Given the description of an element on the screen output the (x, y) to click on. 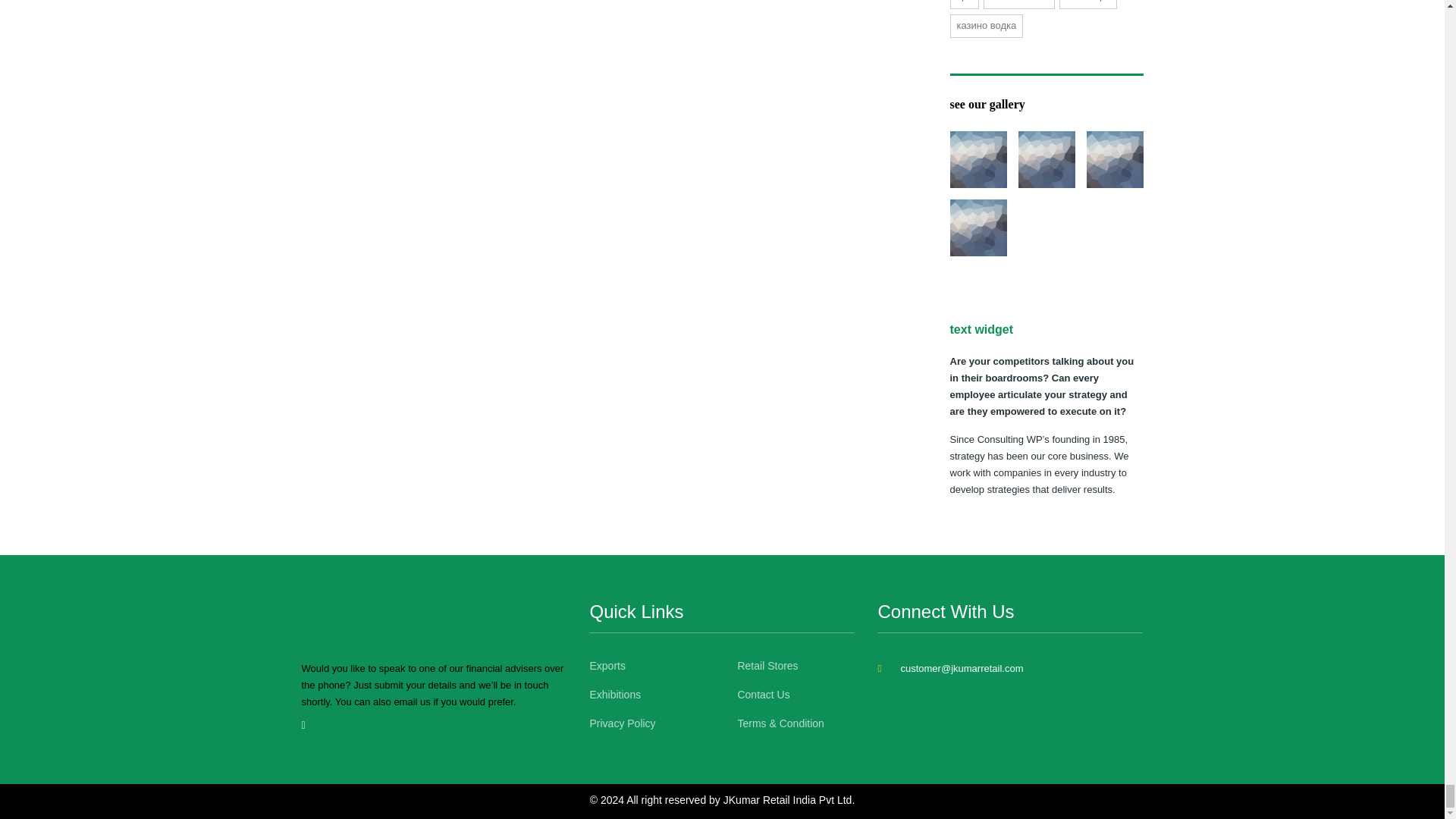
placeholder (977, 159)
placeholder (1114, 159)
placeholder (977, 227)
placeholder (1045, 159)
